Given the description of an element on the screen output the (x, y) to click on. 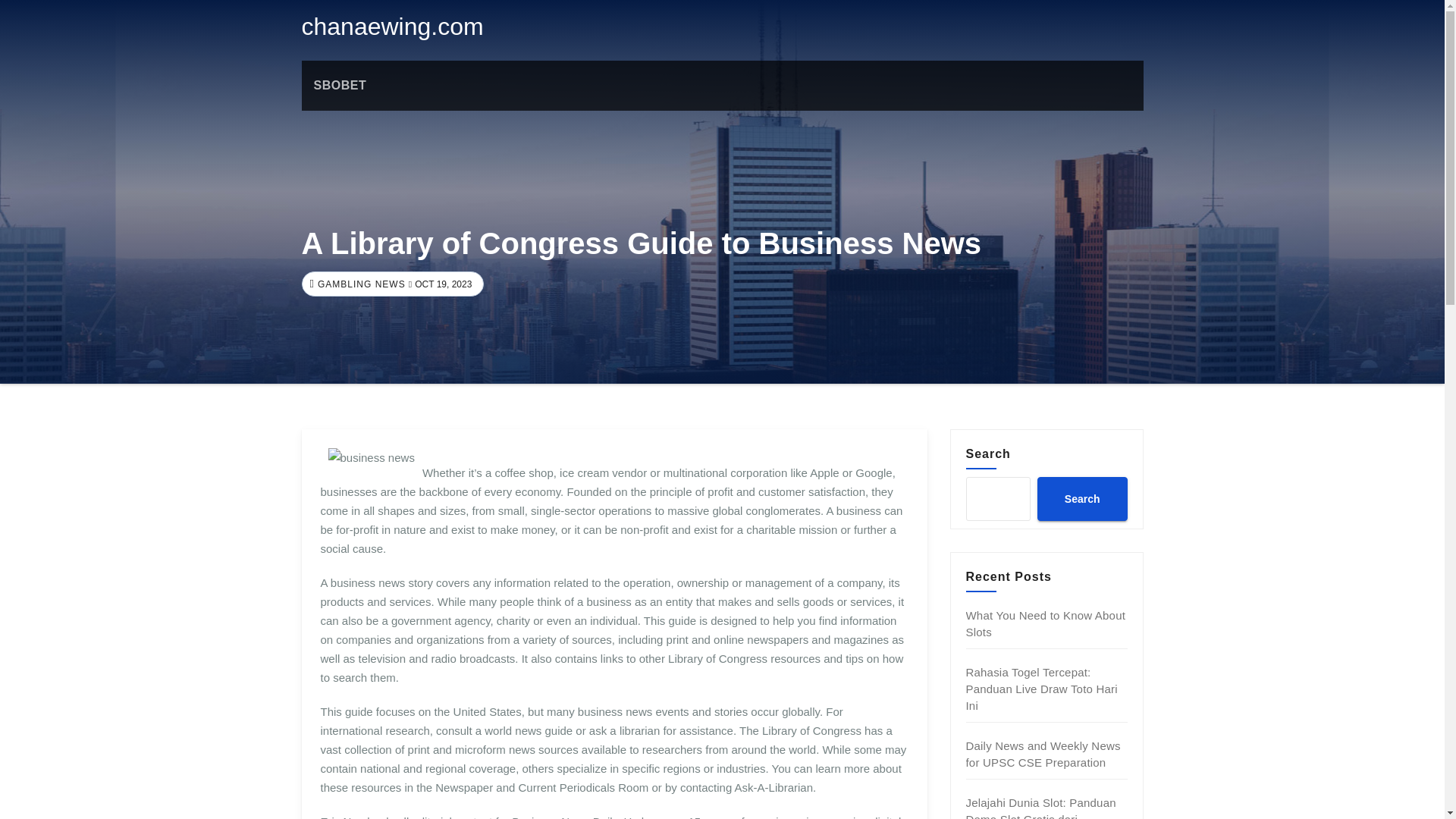
chanaewing.com (392, 26)
What You Need to Know About Slots (1045, 623)
Search (1081, 498)
SBOBET (339, 85)
GAMBLING NEWS (360, 284)
SBOBET (339, 85)
Rahasia Togel Tercepat: Panduan Live Draw Toto Hari Ini (1042, 688)
Daily News and Weekly News for UPSC CSE Preparation (1043, 754)
